Given the description of an element on the screen output the (x, y) to click on. 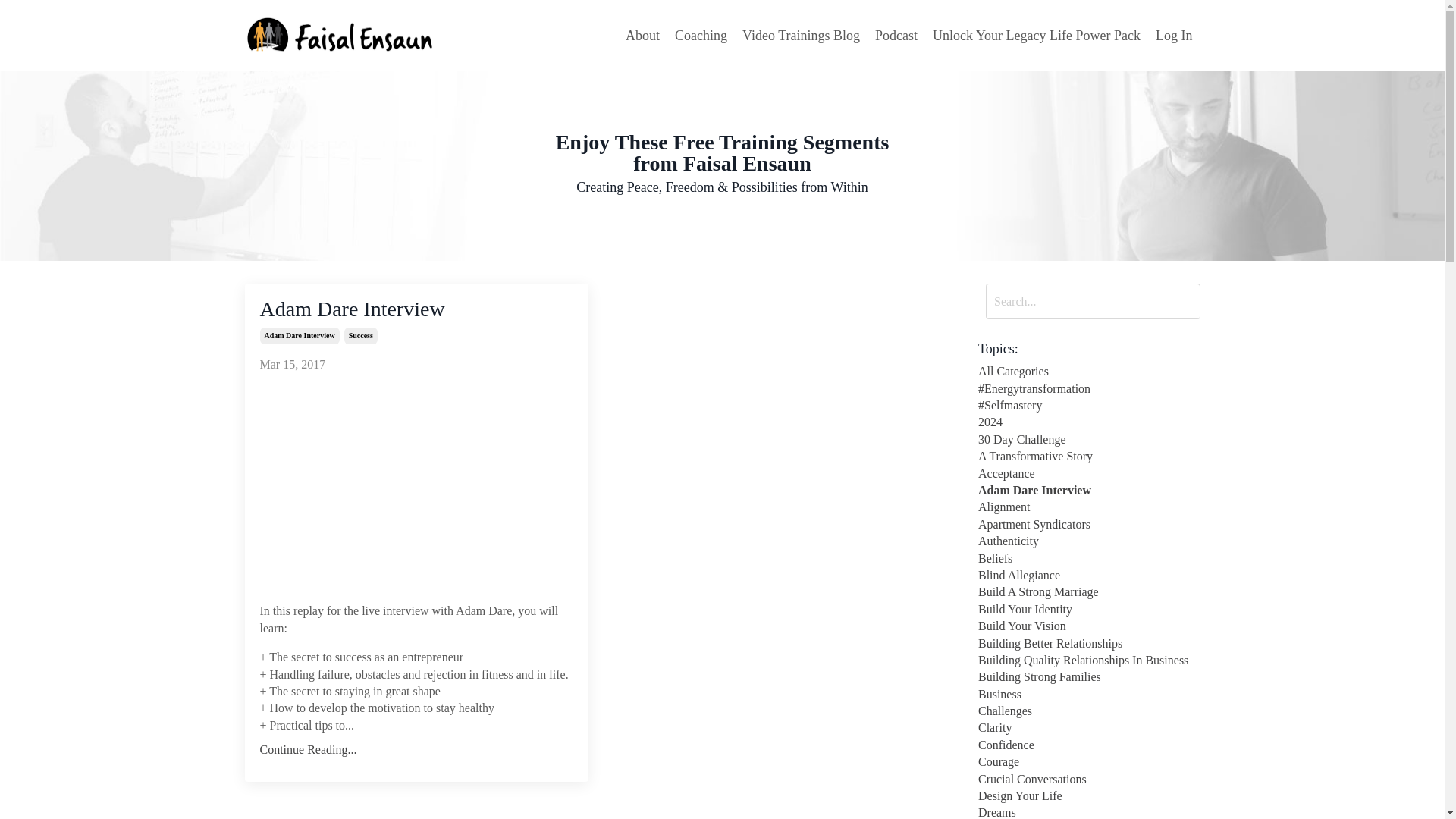
Build Your Identity (1088, 609)
Beliefs (1088, 558)
Blind Allegiance (1088, 575)
Authenticity (1088, 541)
Apartment Syndicators (1088, 524)
Design Your Life (1088, 795)
Challenges (1088, 710)
Courage (1088, 761)
Video Trainings Blog (801, 35)
Podcast (896, 35)
2024 (1088, 422)
Business (1088, 694)
Clarity (1088, 727)
Coaching (700, 35)
A Transformative Story (1088, 456)
